Given the description of an element on the screen output the (x, y) to click on. 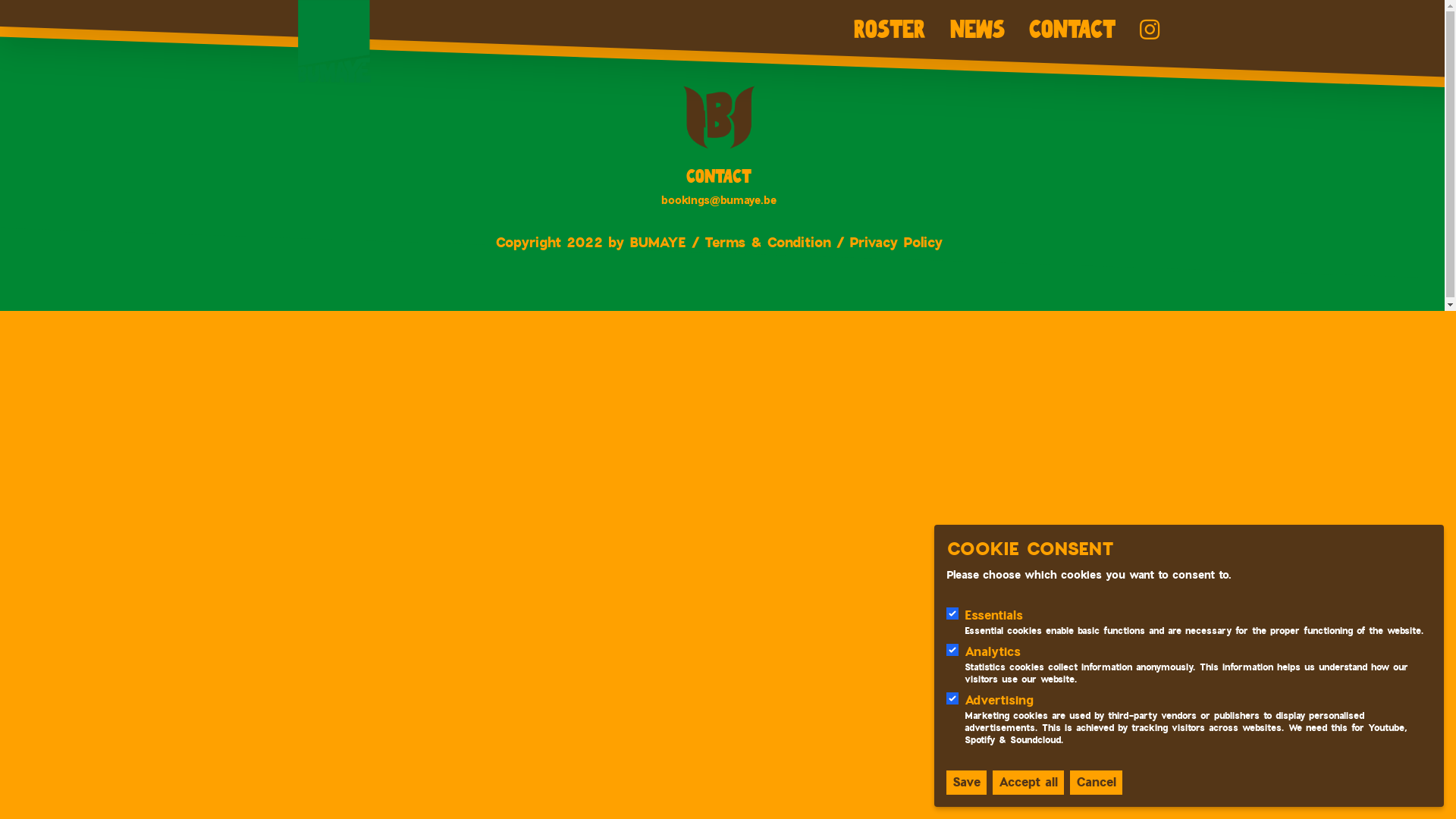
bookings@bumaye.be Element type: text (718, 199)
Cancel Element type: text (1096, 782)
Terms & Condition Element type: text (767, 241)
NEWS Element type: text (976, 30)
Save Element type: text (966, 782)
ROSTER Element type: text (889, 30)
Privacy Policy Element type: text (895, 241)
CONTACT Element type: text (1071, 30)
Accept all Element type: text (1027, 782)
